Given the description of an element on the screen output the (x, y) to click on. 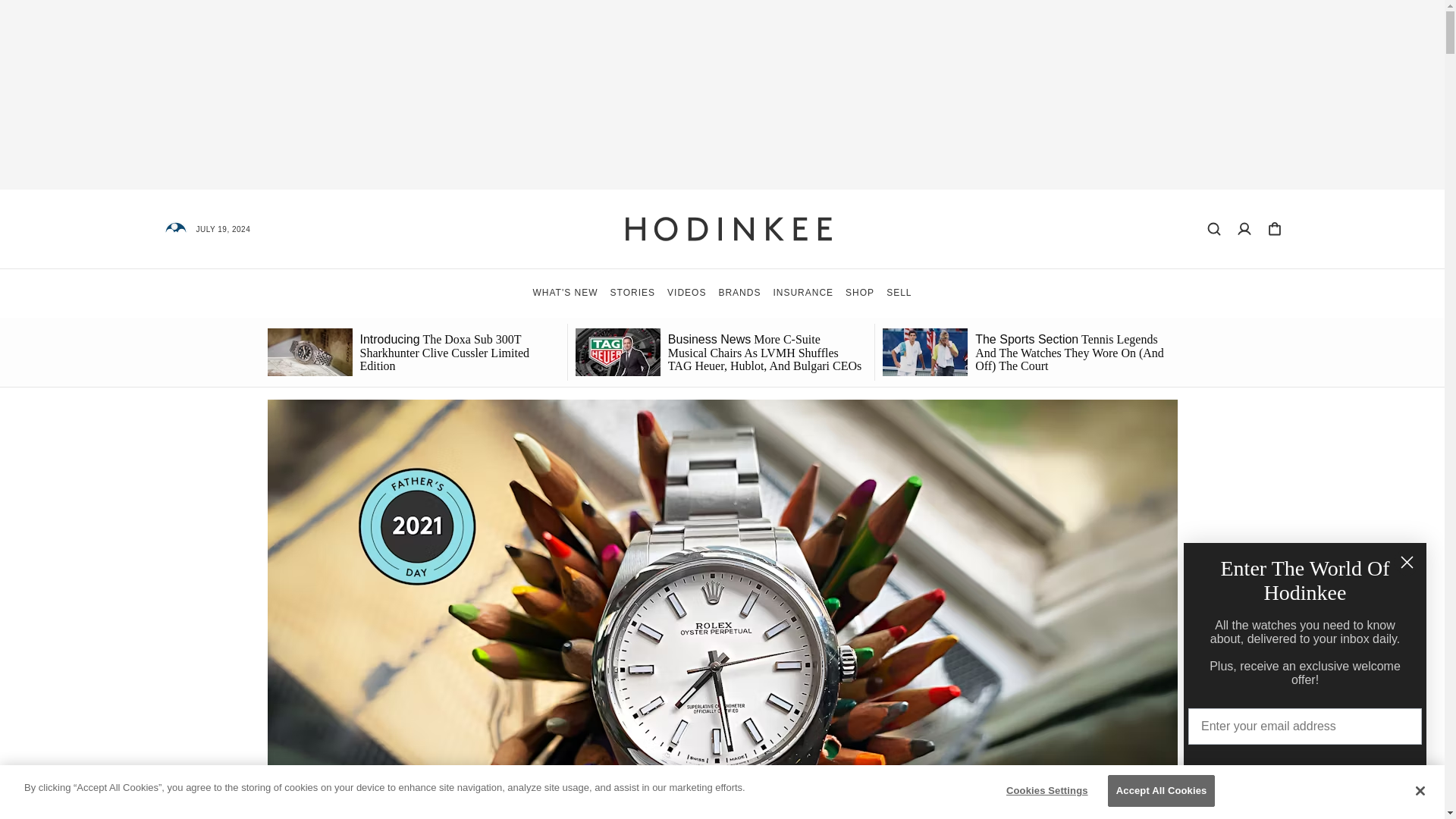
Close dialog 4 (1407, 561)
